Given the description of an element on the screen output the (x, y) to click on. 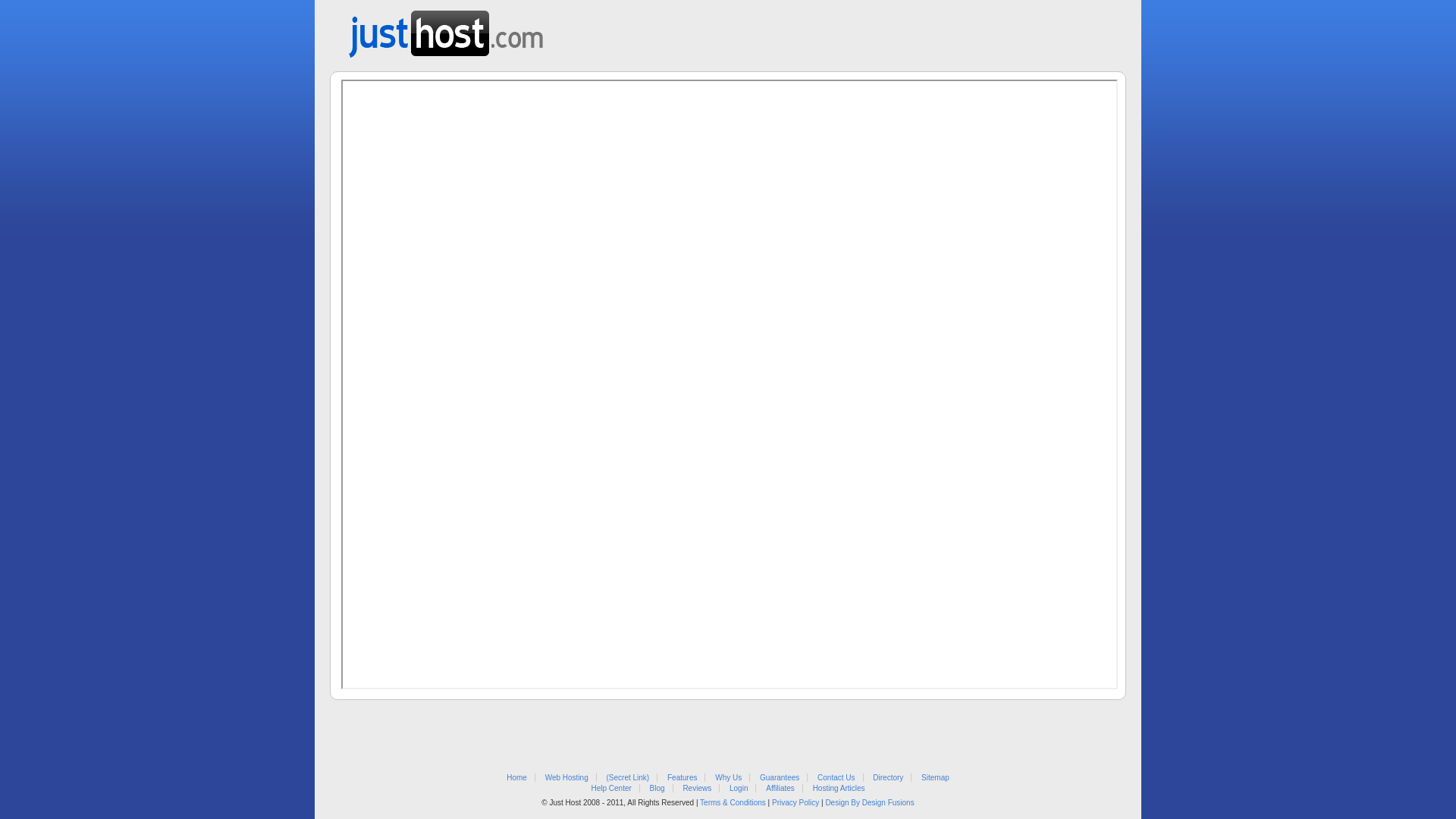
Login Element type: text (738, 788)
Terms & Conditions Element type: text (732, 802)
Help Center Element type: text (610, 788)
Sitemap Element type: text (935, 777)
Guarantees Element type: text (779, 777)
Web Hosting from Just Host Element type: text (445, 28)
Directory Element type: text (887, 777)
Reviews Element type: text (696, 788)
Design By Design Fusions Element type: text (869, 802)
Affiliates Element type: text (779, 788)
Features Element type: text (681, 777)
Contact Us Element type: text (835, 777)
Home Element type: text (516, 777)
Privacy Policy Element type: text (795, 802)
Web Hosting Element type: text (566, 777)
Hosting Articles Element type: text (838, 788)
Why Us Element type: text (728, 777)
(Secret Link) Element type: text (627, 777)
Blog Element type: text (657, 788)
